Given the description of an element on the screen output the (x, y) to click on. 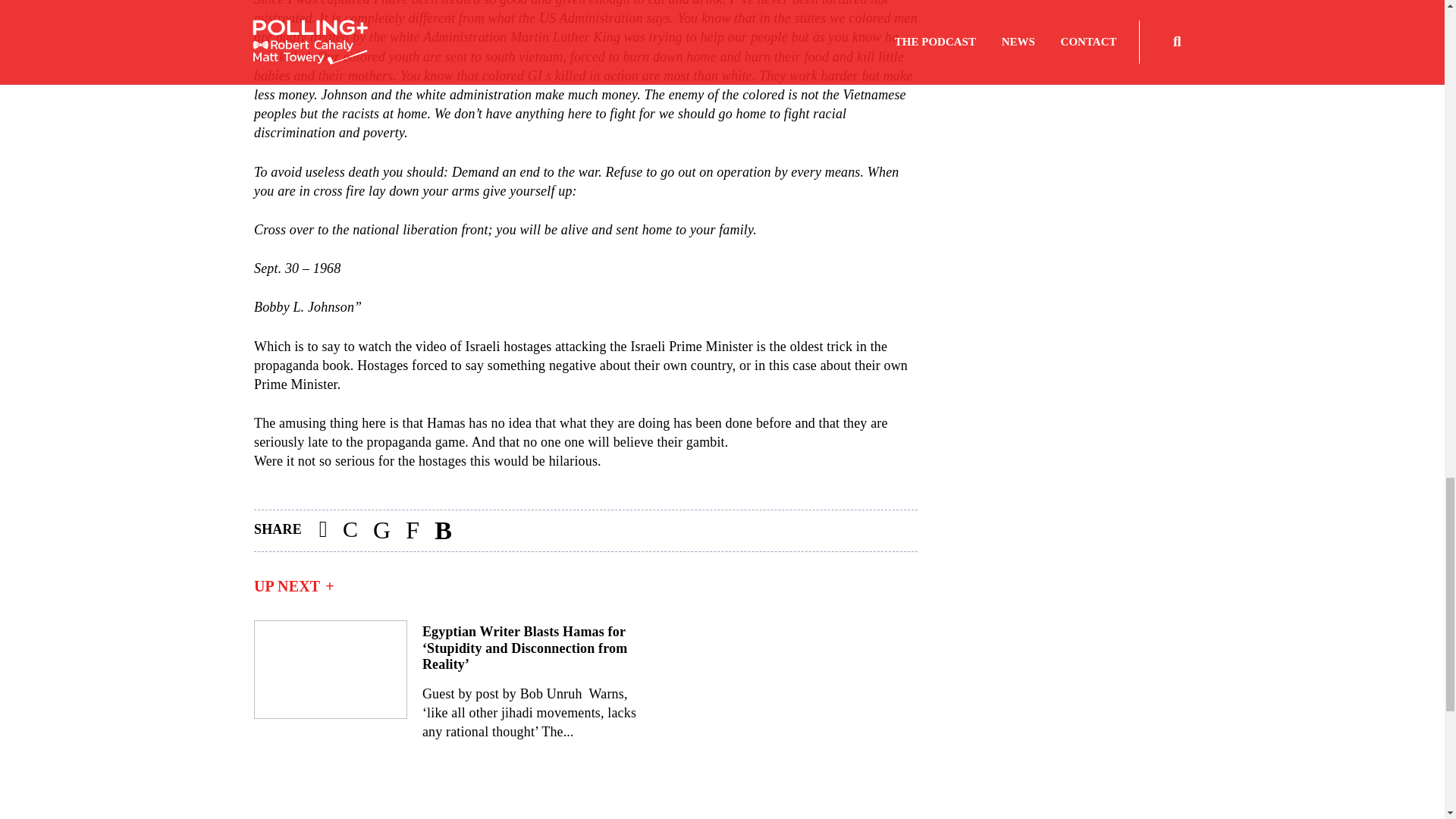
Share on Twitter (381, 530)
Share on Truth Social (411, 530)
Share on Facebook (322, 530)
Share on Parler (349, 530)
Share on Gettr (443, 530)
